Given the description of an element on the screen output the (x, y) to click on. 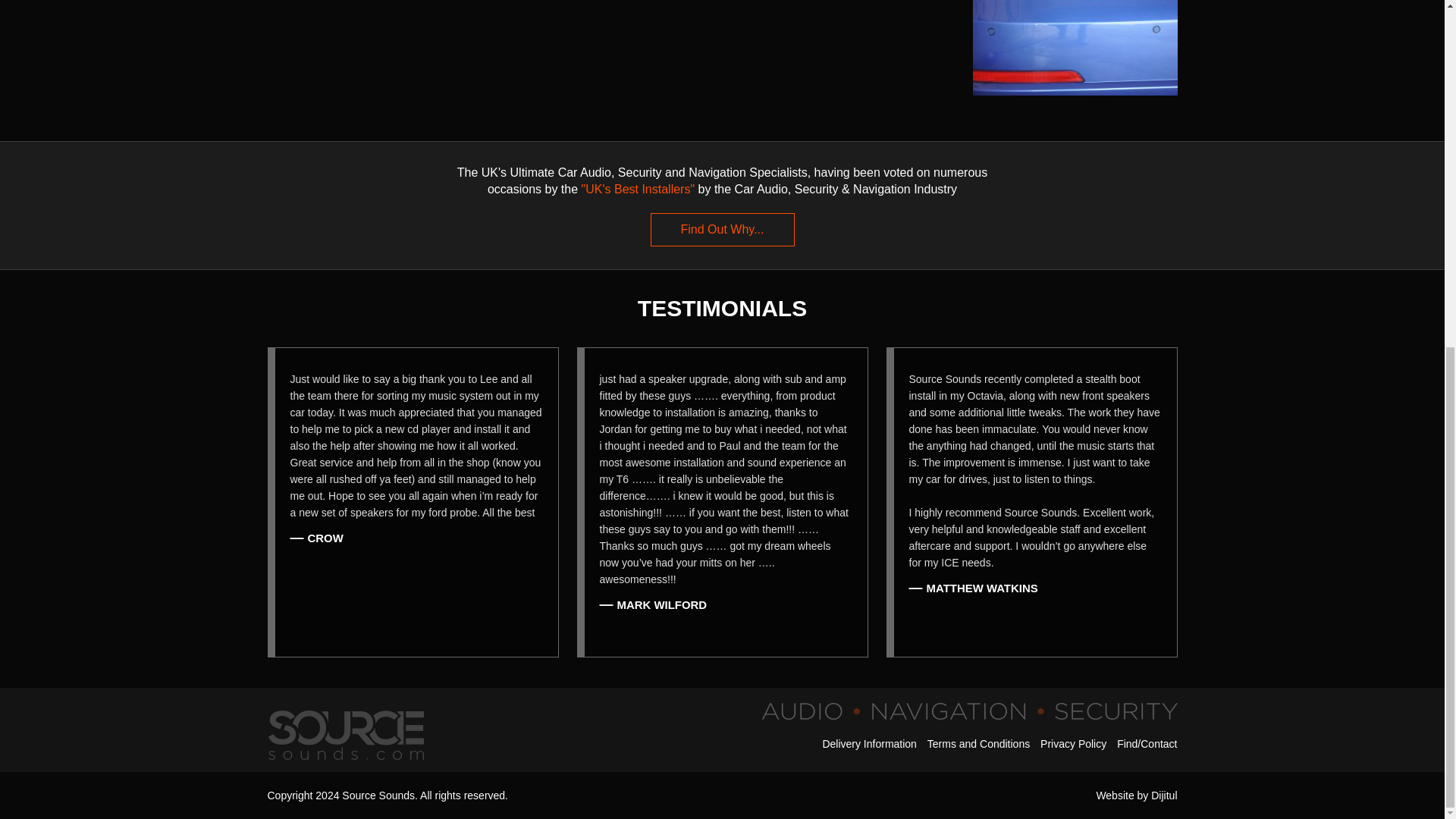
Find Out Why... (722, 229)
Privacy Policy (1073, 743)
Back to top (1387, 164)
Terms and Conditions (978, 743)
Delivery Information (869, 743)
